Given the description of an element on the screen output the (x, y) to click on. 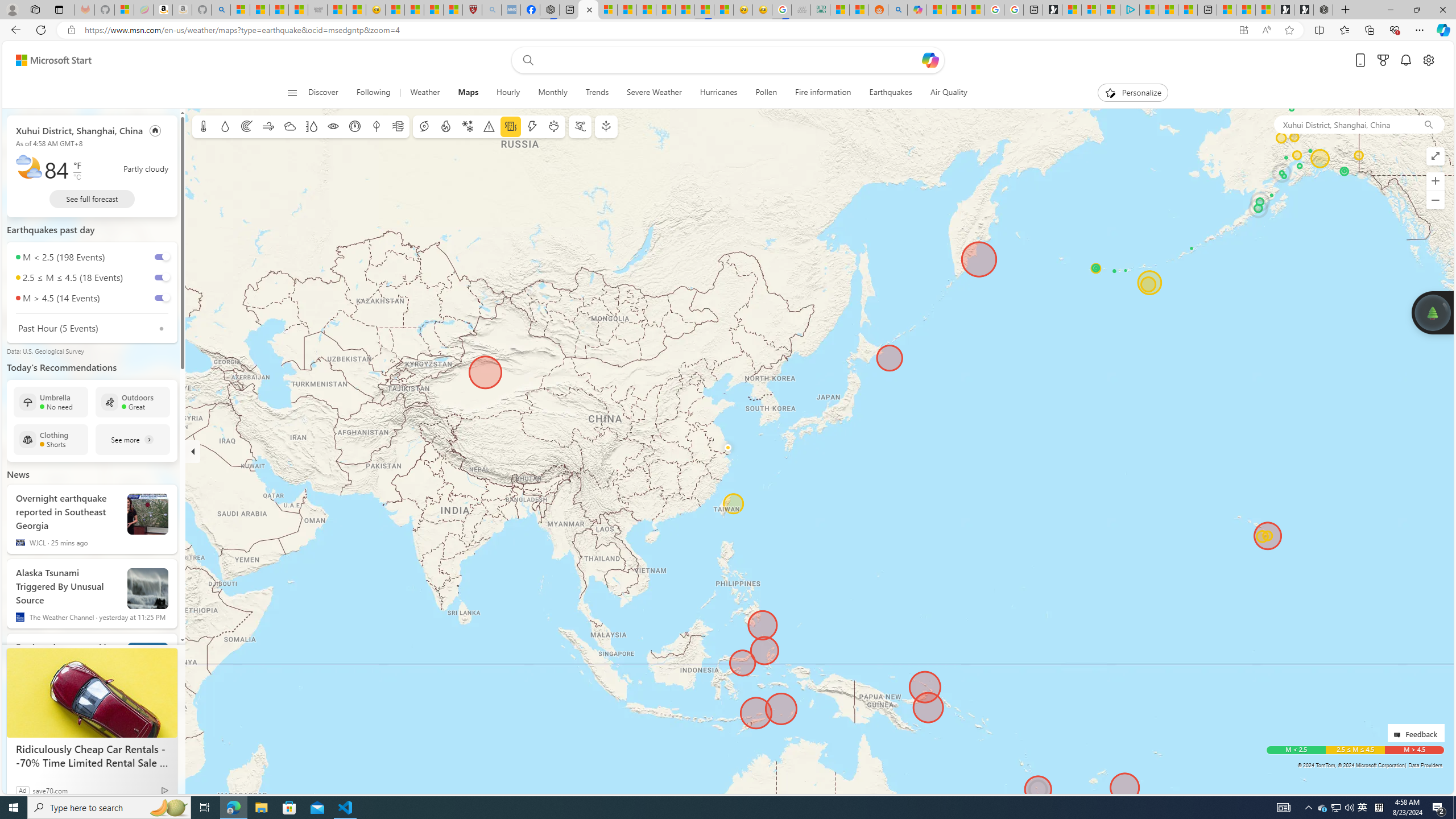
Precipitation (225, 126)
Zoom out (1435, 199)
Severe weather (489, 126)
Open Copilot (930, 59)
Feedback (1415, 732)
Air quality (397, 126)
Data Providers (1424, 765)
E-tree (605, 126)
App bar (728, 29)
Refresh (40, 29)
Settings and more (Alt+F) (1419, 29)
